Given the description of an element on the screen output the (x, y) to click on. 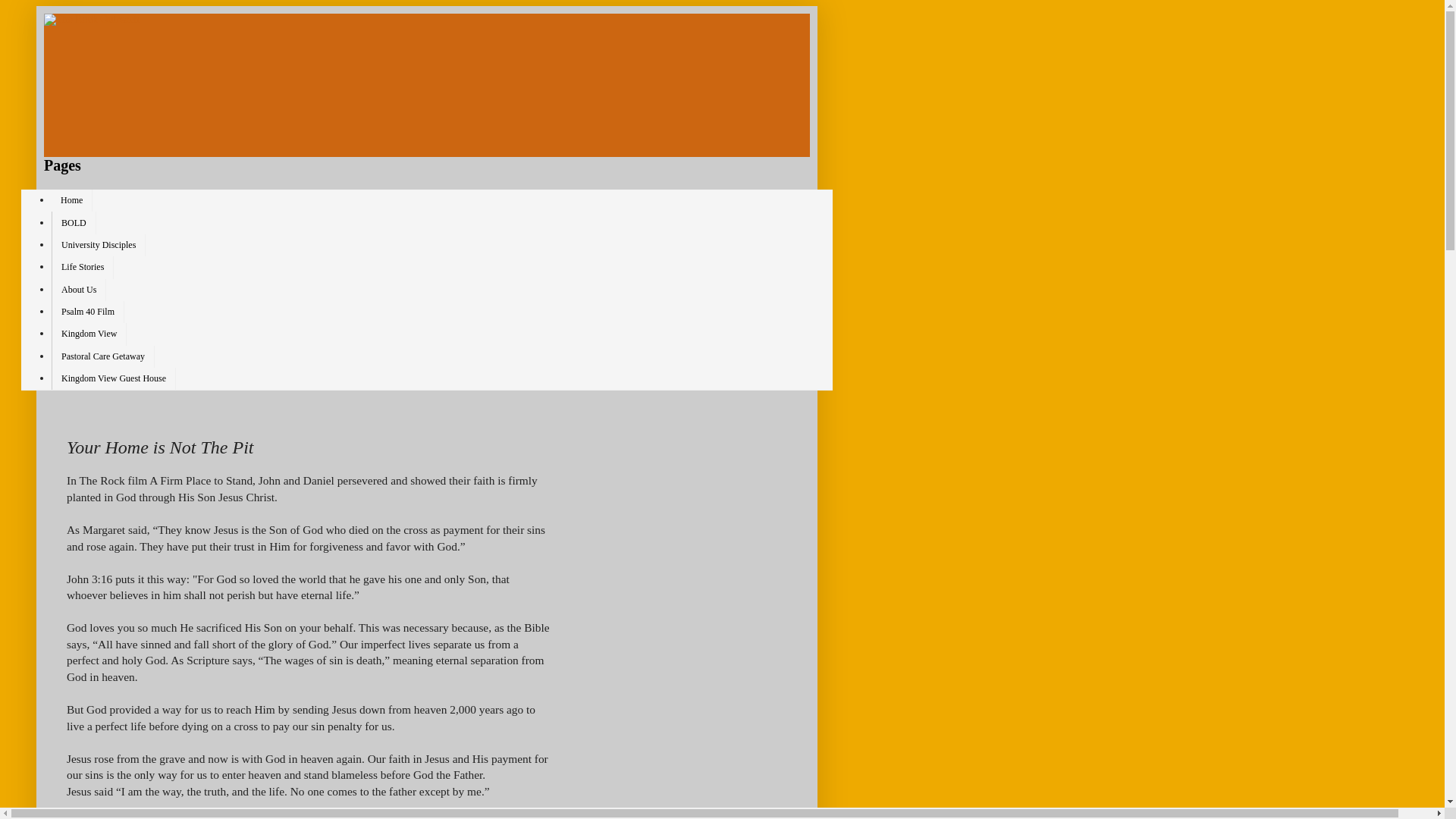
University Disciples (97, 245)
Pastoral Care Getaway (102, 356)
Home (71, 200)
About Us (78, 290)
Kingdom View Guest House (113, 378)
Life Stories (81, 267)
Psalm 40 Film (86, 311)
Kingdom View (88, 333)
BOLD (73, 222)
